Given the description of an element on the screen output the (x, y) to click on. 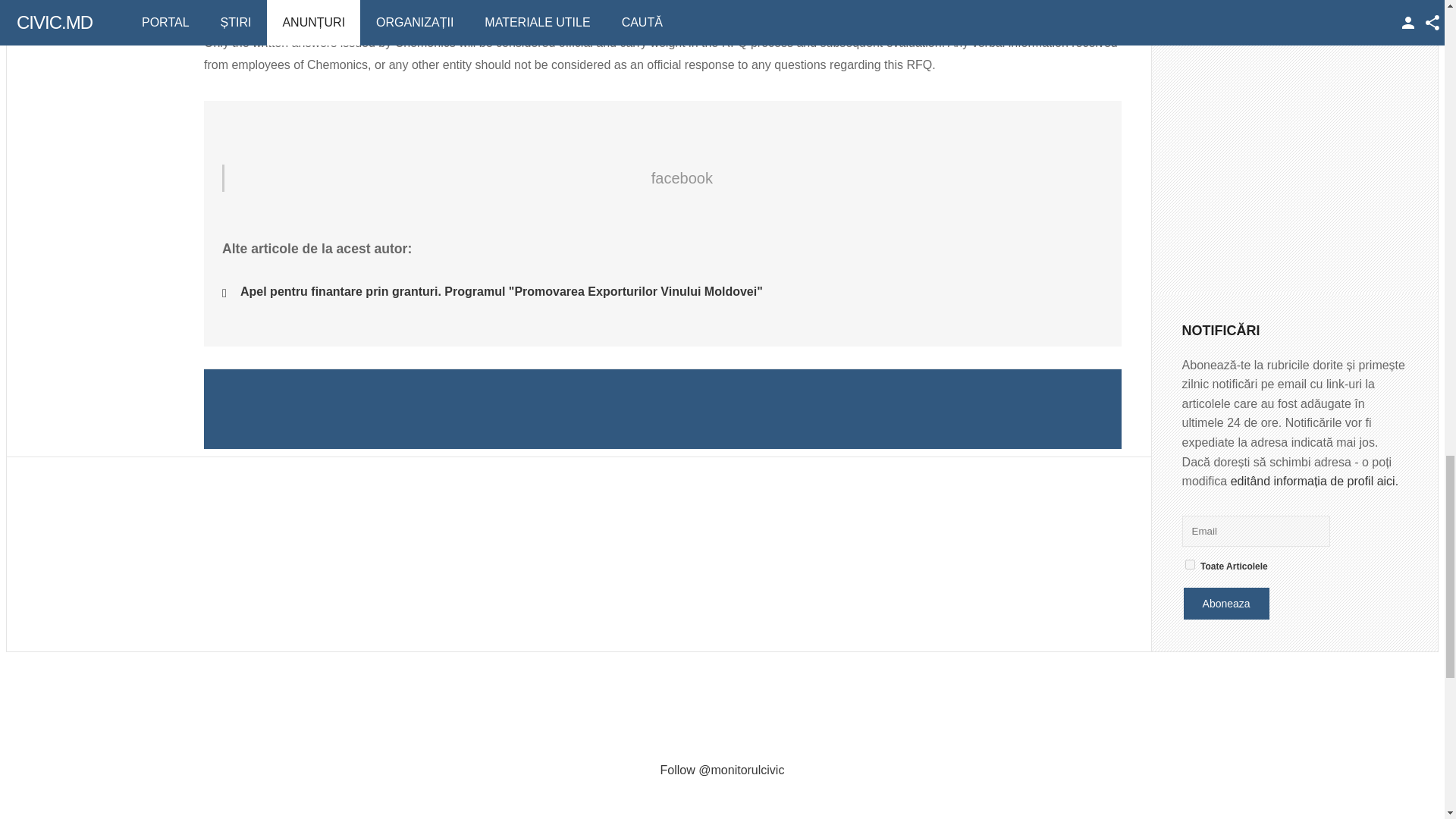
18 (1190, 564)
Aboneaza (1226, 603)
Apel pentru finantare prin granturi. Programul  (501, 291)
